Given the description of an element on the screen output the (x, y) to click on. 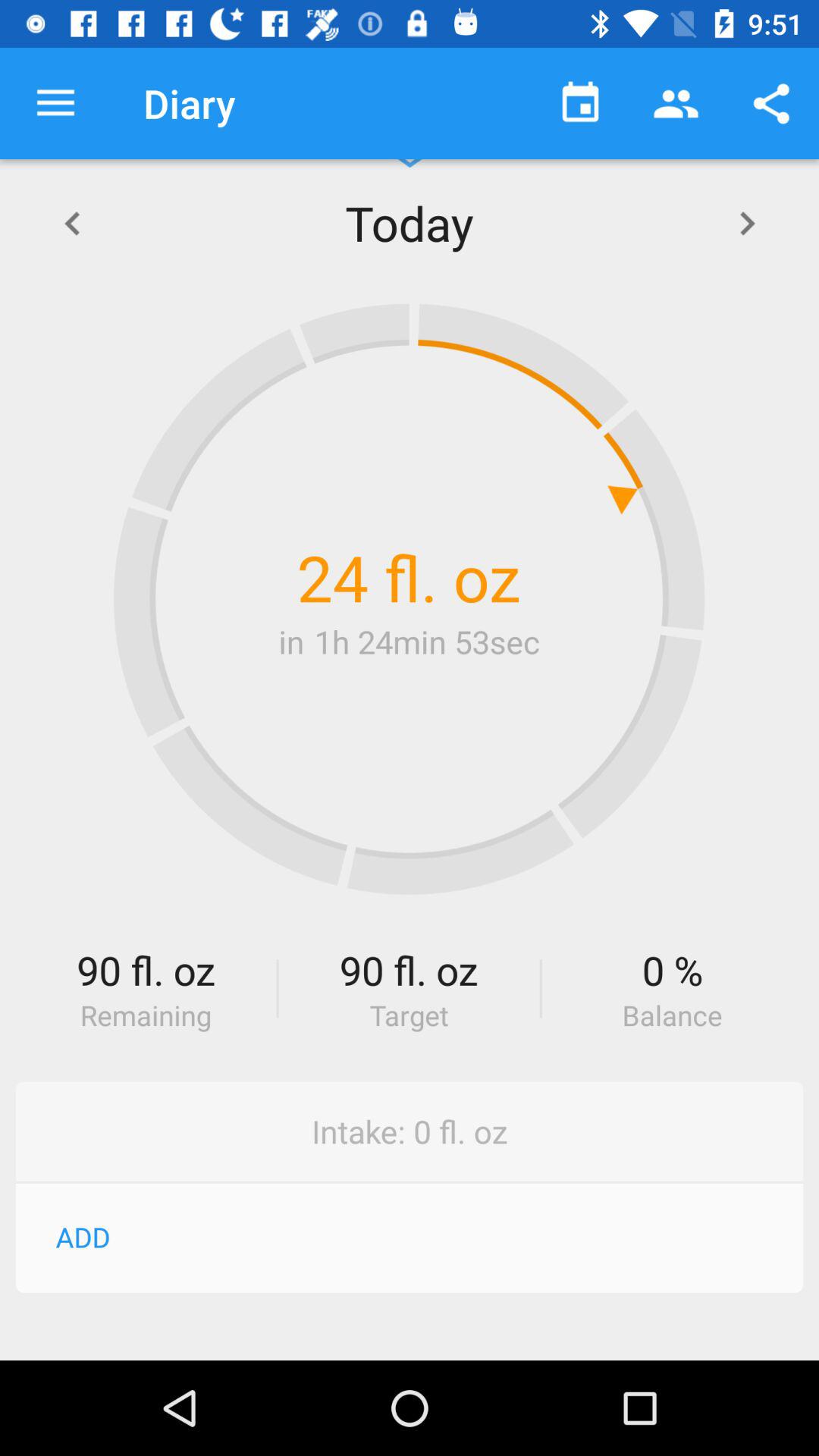
turn on the icon to the right of today (747, 222)
